Given the description of an element on the screen output the (x, y) to click on. 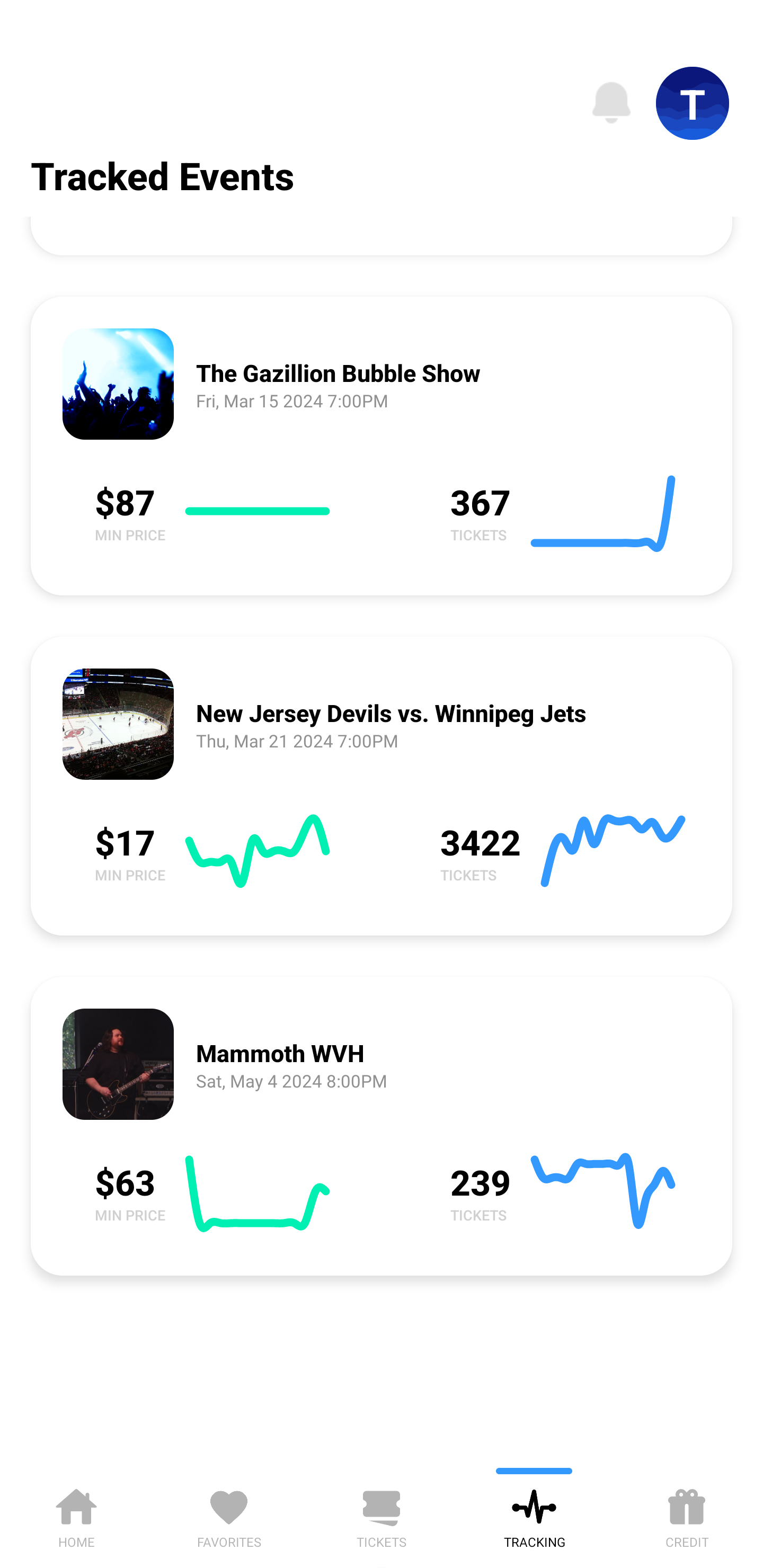
T (692, 103)
HOME (76, 1515)
FAVORITES (228, 1515)
TICKETS (381, 1515)
TRACKING (533, 1515)
CREDIT (686, 1515)
